Given the description of an element on the screen output the (x, y) to click on. 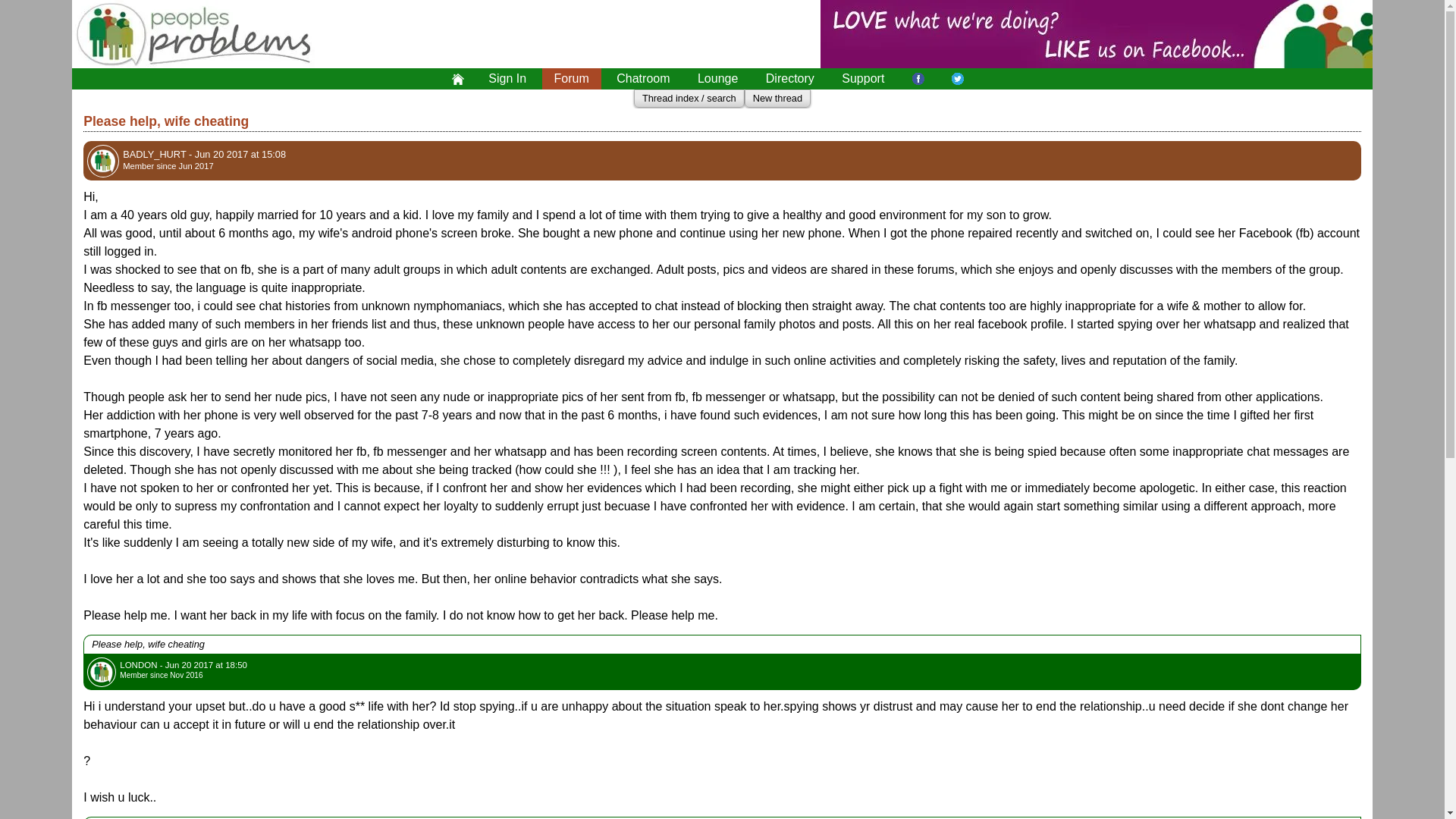
Chatroom (642, 78)
Forum (571, 78)
Lounge (717, 78)
Directory (790, 78)
Support (862, 78)
New thread (777, 98)
Sign In (507, 78)
